Given the description of an element on the screen output the (x, y) to click on. 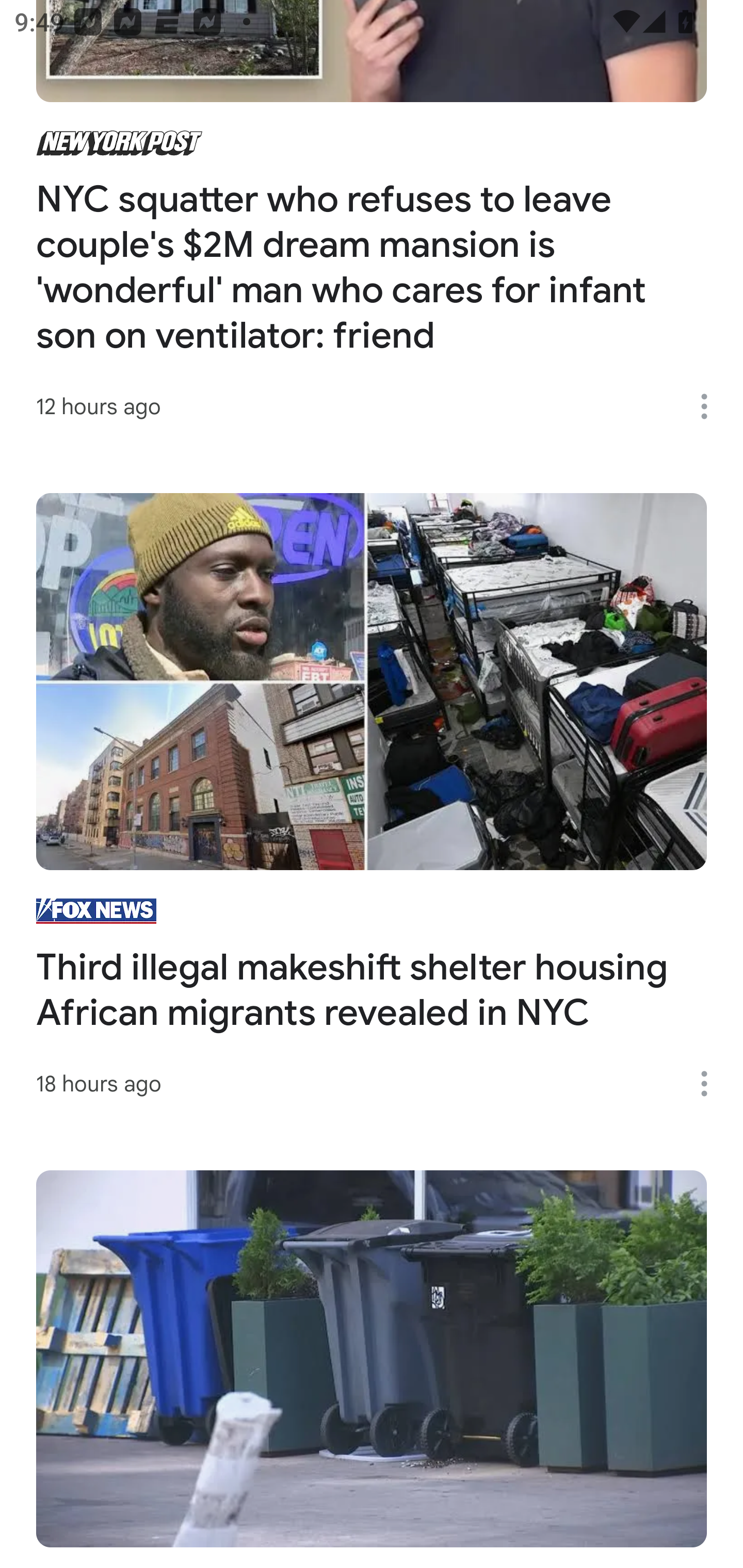
More options (711, 406)
More options (711, 1083)
